Given the description of an element on the screen output the (x, y) to click on. 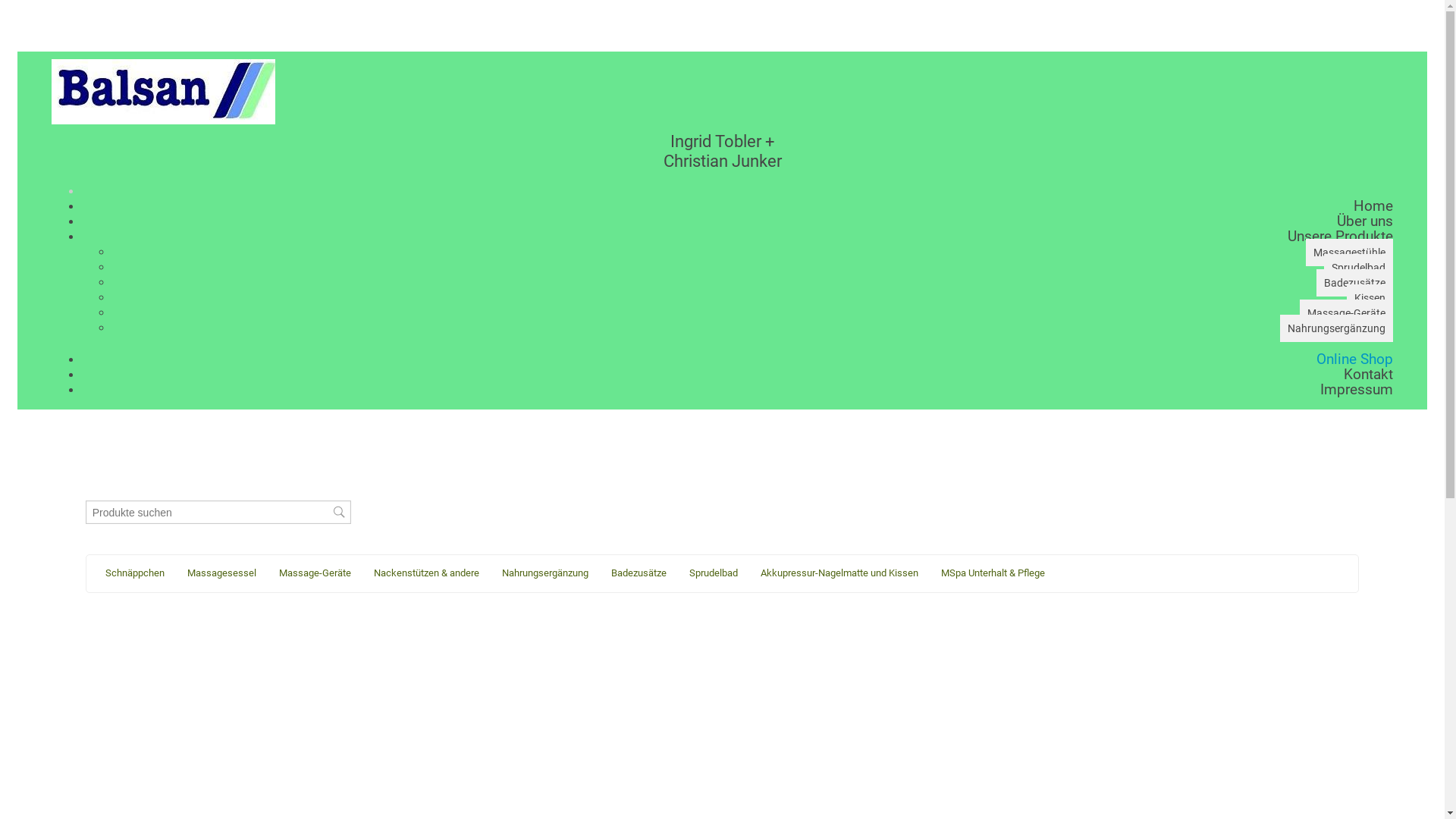
Massagesessel Element type: text (221, 573)
Kontakt Element type: text (1368, 373)
Close Menu Element type: hover (737, 191)
Unsere Produkte Element type: text (1340, 235)
Kissen Element type: text (1369, 297)
MSpa Unterhalt & Pflege Element type: text (992, 573)
Sprudelbad Element type: text (1358, 267)
Home Element type: text (1373, 205)
Akkupressur-Nagelmatte und Kissen Element type: text (839, 573)
Sprudelbad Element type: text (713, 573)
Online Shop Element type: text (1354, 358)
Impressum Element type: text (1356, 388)
